Given the description of an element on the screen output the (x, y) to click on. 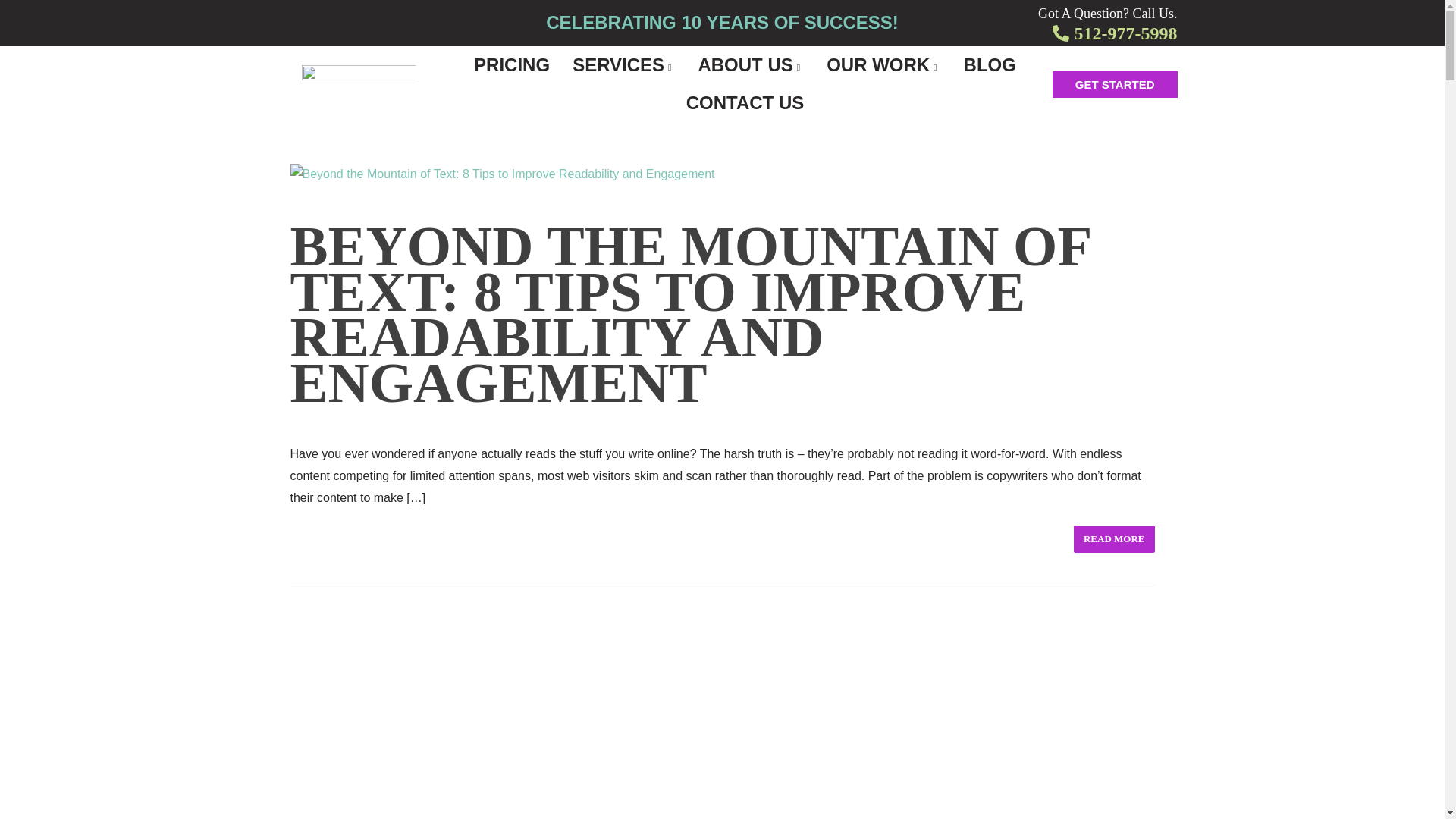
BLOG (989, 64)
PRICING (511, 64)
ABOUT US (750, 64)
GET STARTED (1114, 84)
OUR WORK (883, 64)
512-977-5998 (1125, 33)
CONTACT US (745, 103)
Screen Shot 2024-06-20 at 12.44.46 PM (706, 153)
SERVICES (622, 64)
